Given the description of an element on the screen output the (x, y) to click on. 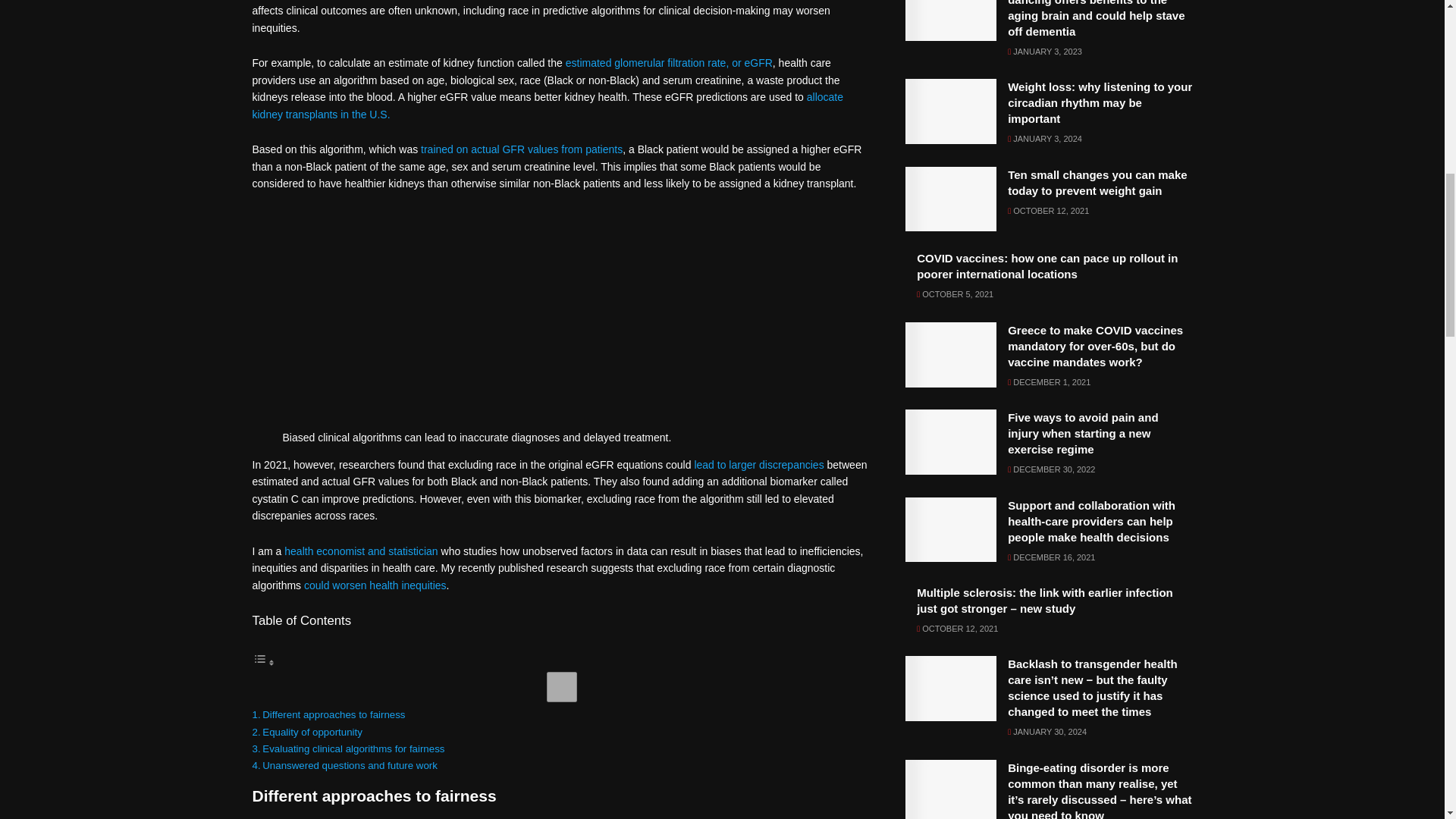
on (560, 686)
Unanswered questions and future work (350, 765)
trained on actual GFR values from patients (521, 149)
Different approaches to fairness (333, 714)
health economist and statistician (360, 551)
could worsen health inequities (375, 585)
Evaluating clinical algorithms for fairness (353, 748)
Equality of opportunity (312, 731)
lead to larger discrepancies (759, 464)
allocate kidney transplants in the U.S. (547, 104)
estimated glomerular filtration rate, or eGFR (669, 62)
